Given the description of an element on the screen output the (x, y) to click on. 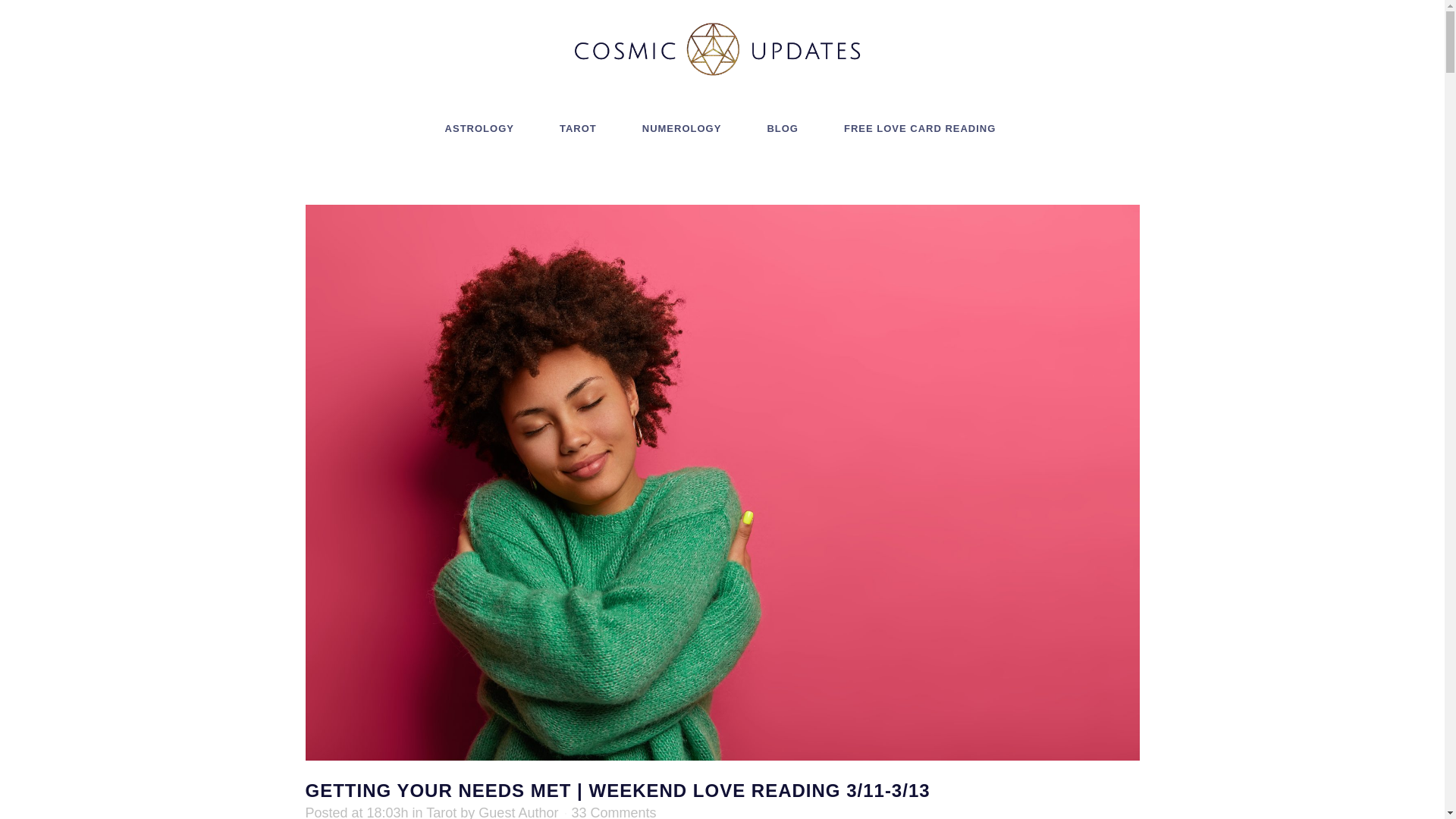
Guest Author (518, 812)
Tarot (441, 812)
ASTROLOGY (479, 128)
TAROT (578, 128)
NUMEROLOGY (682, 128)
BLOG (782, 128)
FREE LOVE CARD READING (919, 128)
33 Comments (614, 812)
